Given the description of an element on the screen output the (x, y) to click on. 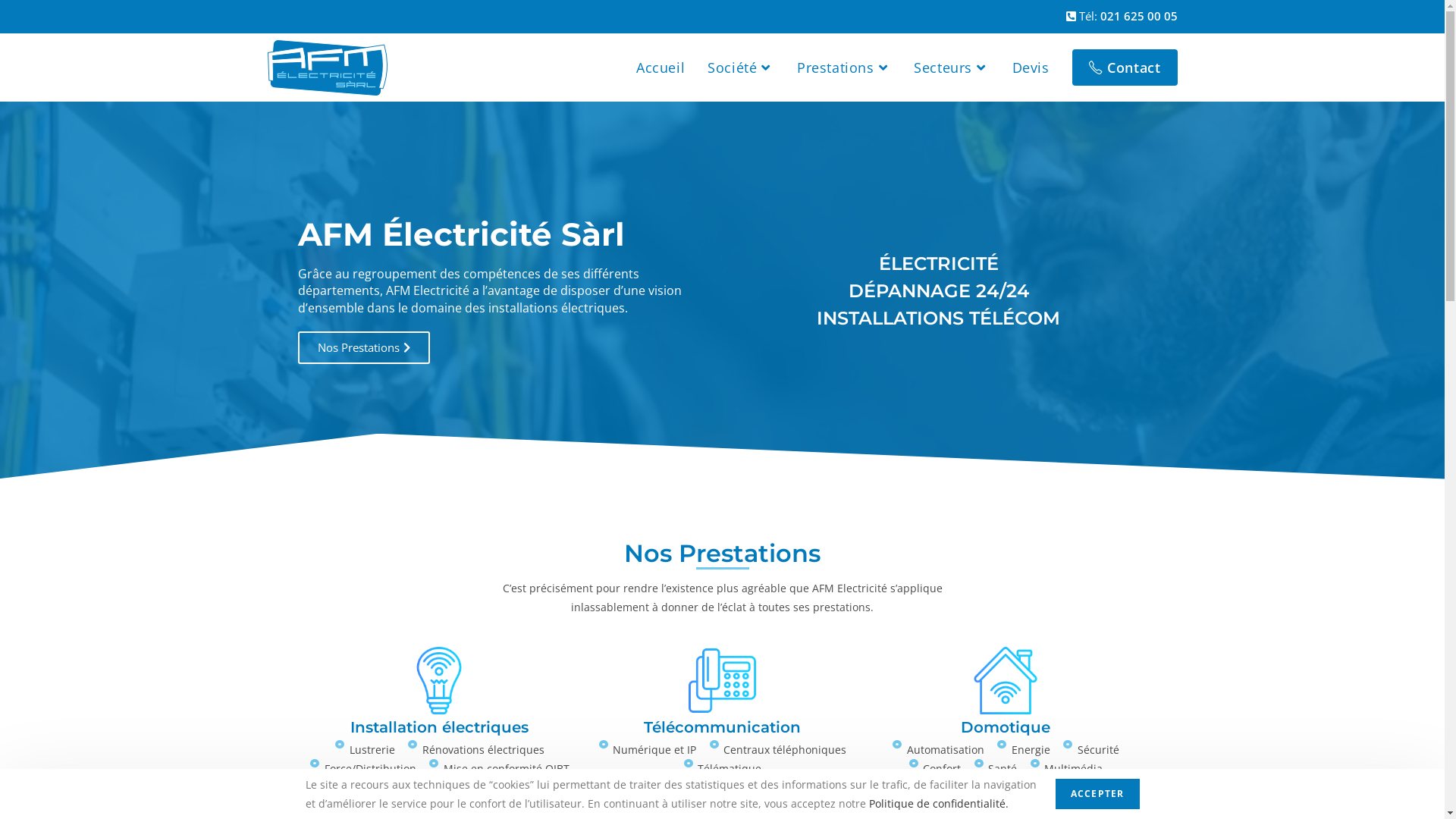
Prestations Element type: text (843, 67)
Nos Prestations Element type: text (363, 347)
Contact Element type: text (1124, 67)
Secteurs Element type: text (951, 67)
Accueil Element type: text (660, 67)
ACCEPTER Element type: text (1097, 793)
Devis Element type: text (1030, 67)
